Given the description of an element on the screen output the (x, y) to click on. 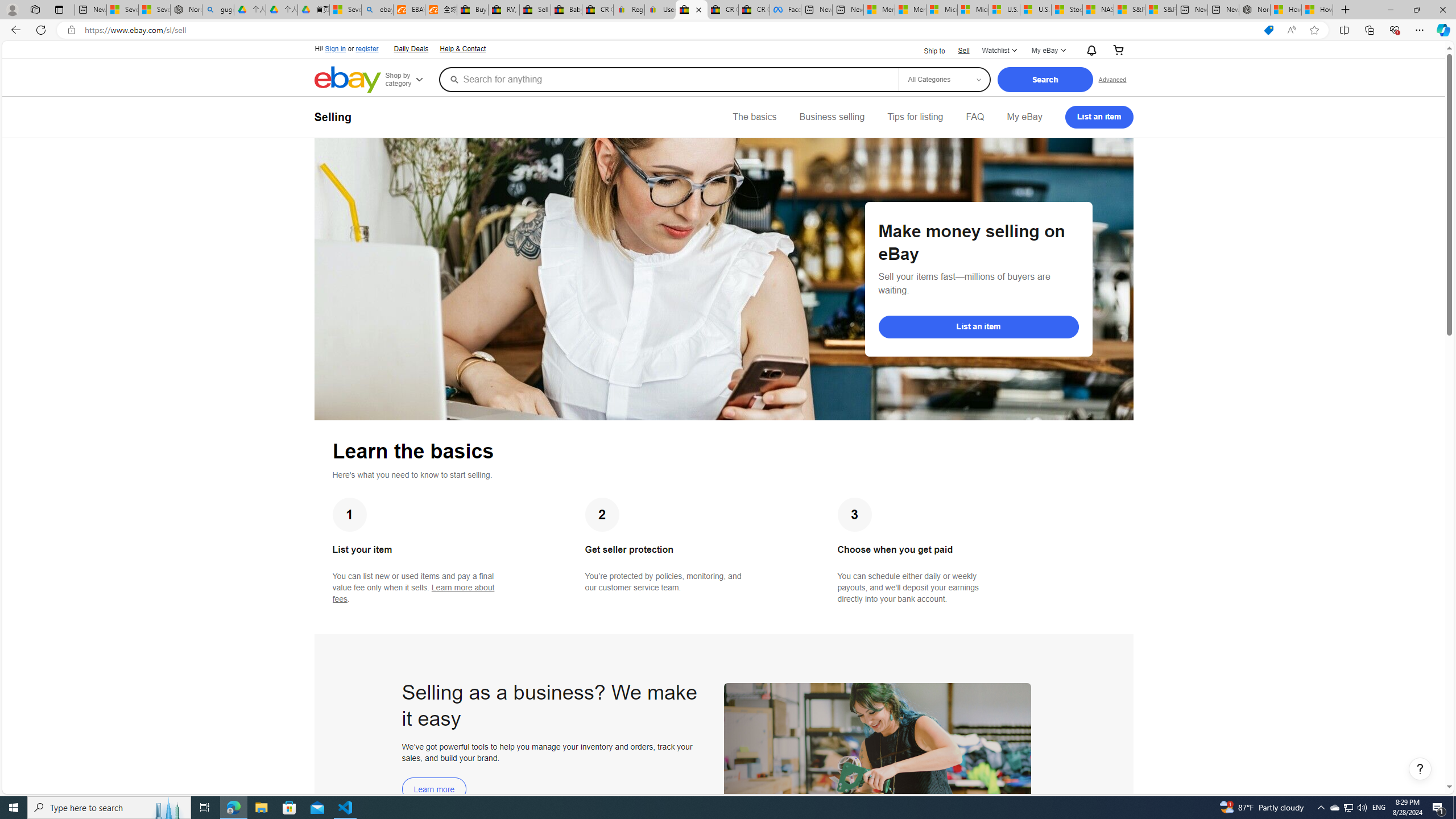
Your shopping cart (1118, 50)
Help & Contact (461, 48)
Help, opens dialogs (1420, 768)
FAQ (974, 116)
Sell (963, 49)
List an item (1099, 116)
Daily Deals (410, 48)
Shop by category (410, 79)
